Given the description of an element on the screen output the (x, y) to click on. 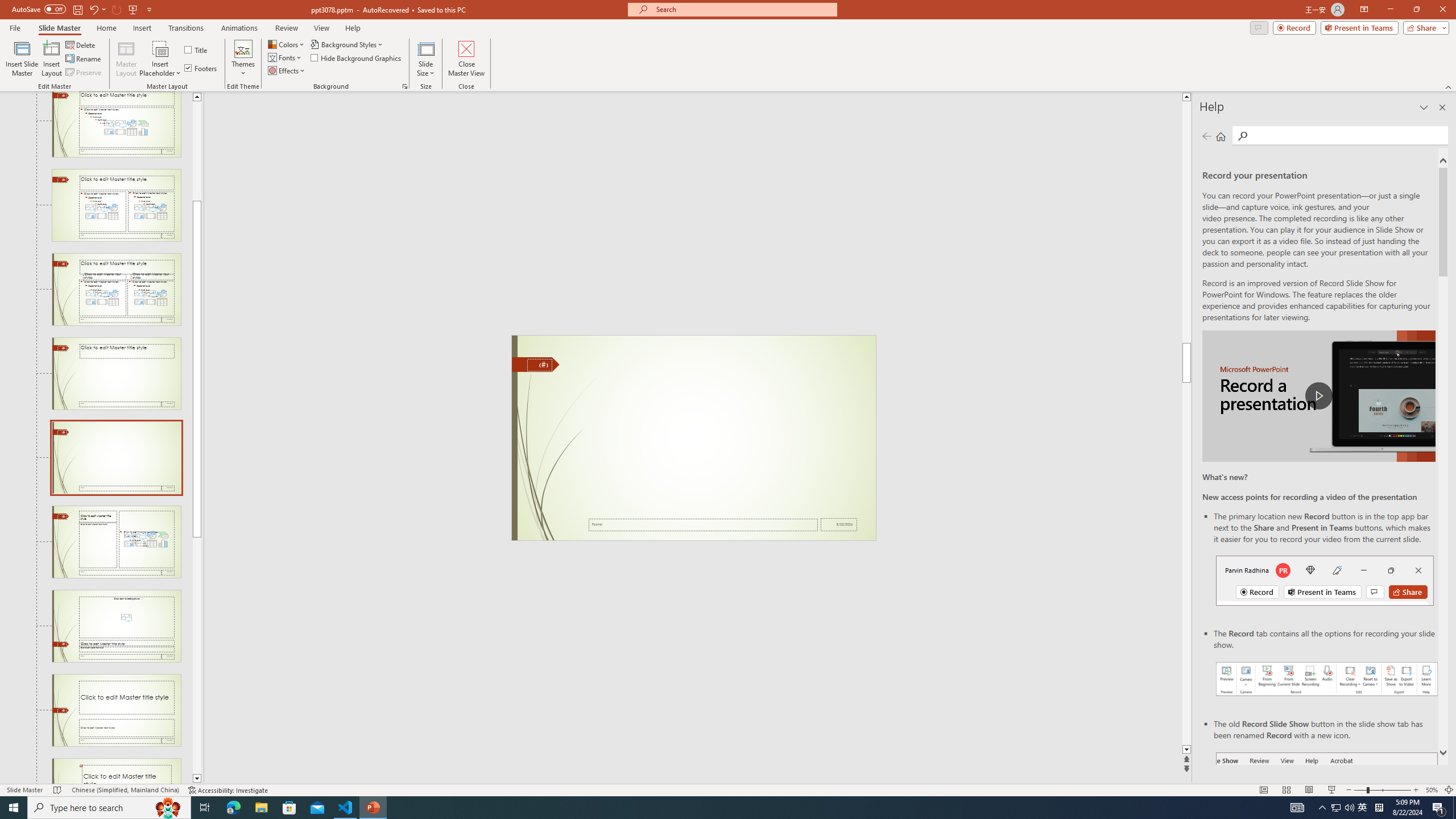
Slide Title and Caption Layout: used by no slides (116, 710)
play Record a Presentation (1318, 395)
Slide Title Only Layout: used by no slides (116, 373)
Colors (287, 44)
Slide Two Content Layout: used by no slides (116, 204)
